Given the description of an element on the screen output the (x, y) to click on. 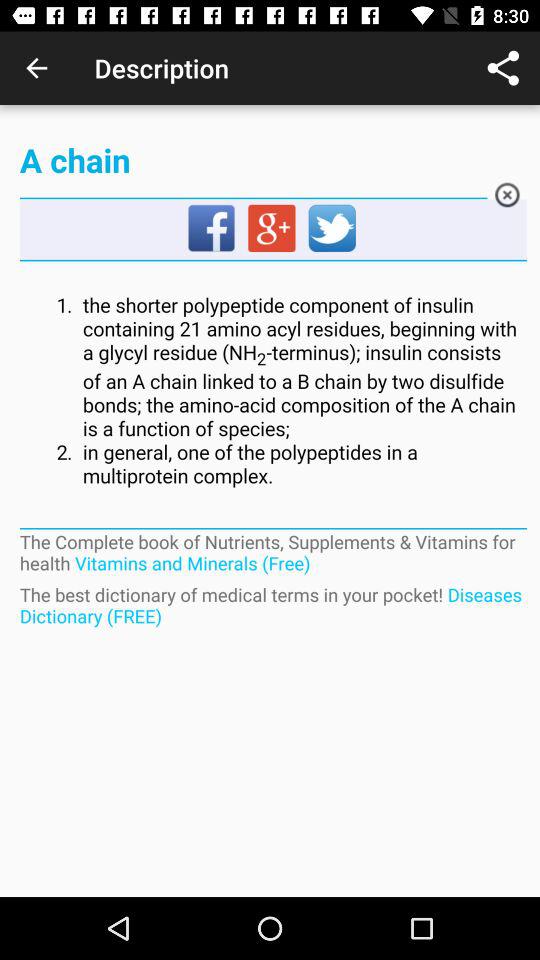
close the option (506, 197)
